Given the description of an element on the screen output the (x, y) to click on. 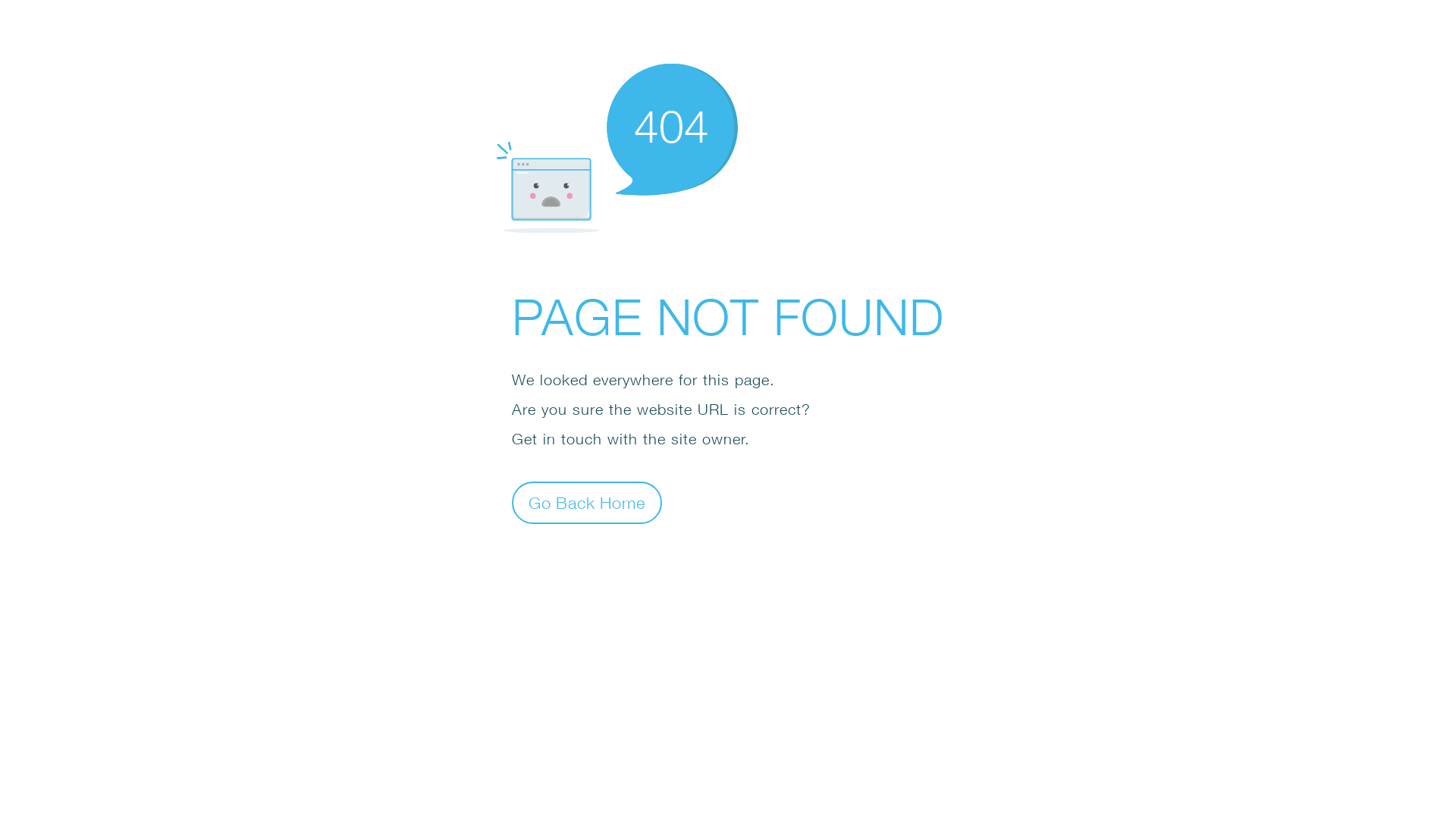
Go Back Home Element type: text (586, 502)
